Given the description of an element on the screen output the (x, y) to click on. 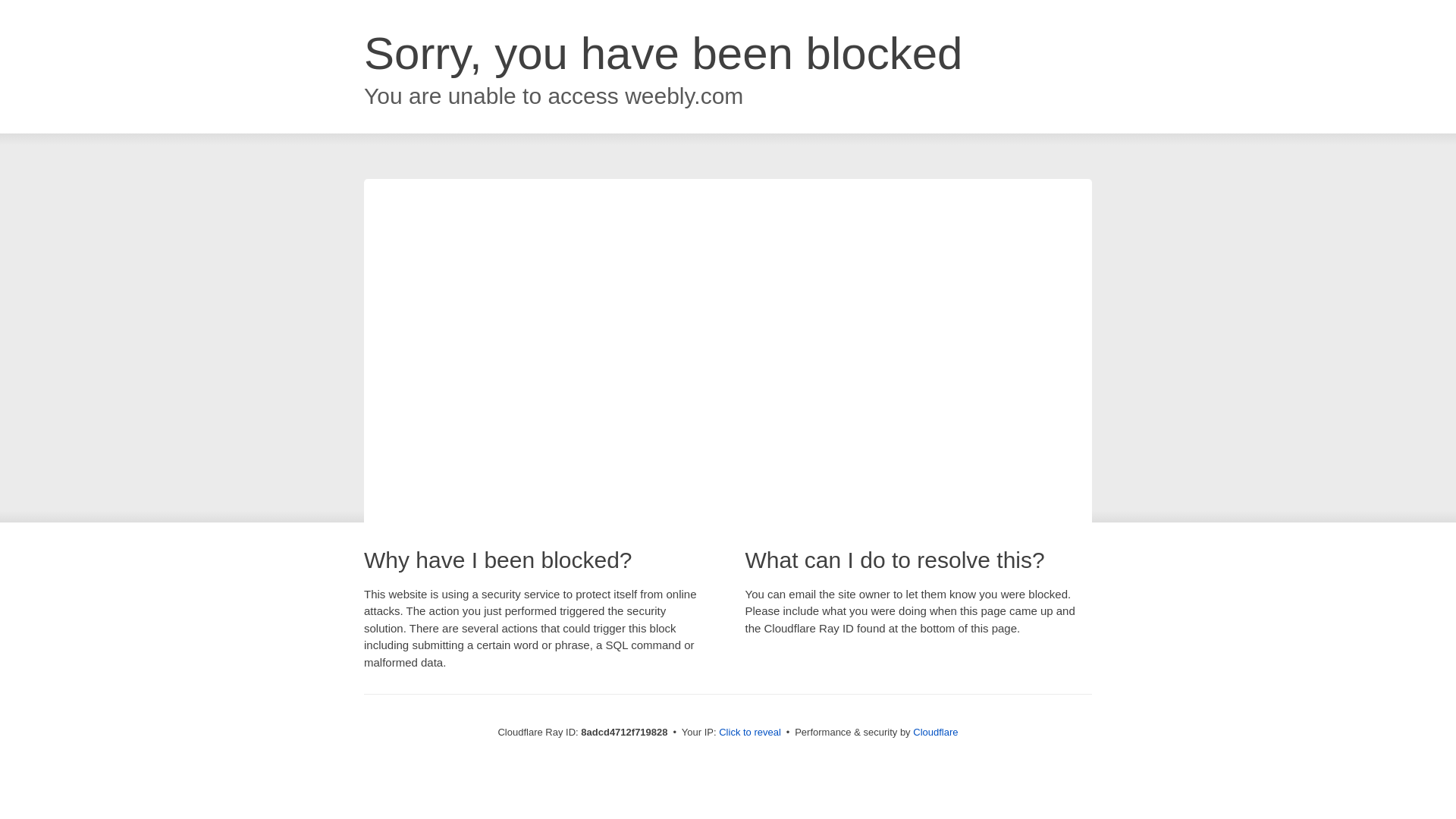
Click to reveal (749, 732)
Cloudflare (935, 731)
